Given the description of an element on the screen output the (x, y) to click on. 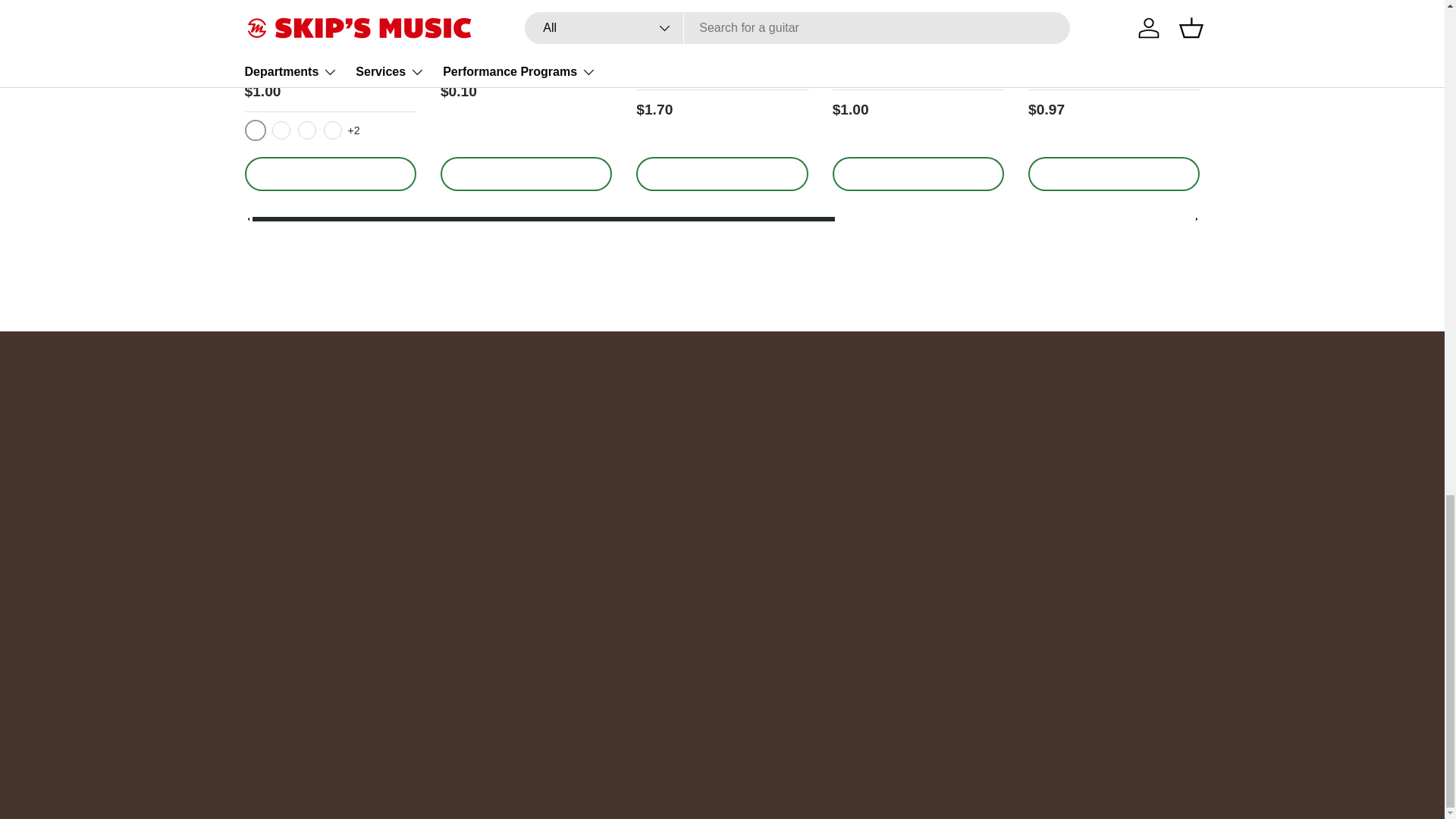
WHITE (306, 130)
BLACK WHITE DOT (279, 130)
WHITE BLACK DOT (331, 130)
BLACK (254, 130)
